Given the description of an element on the screen output the (x, y) to click on. 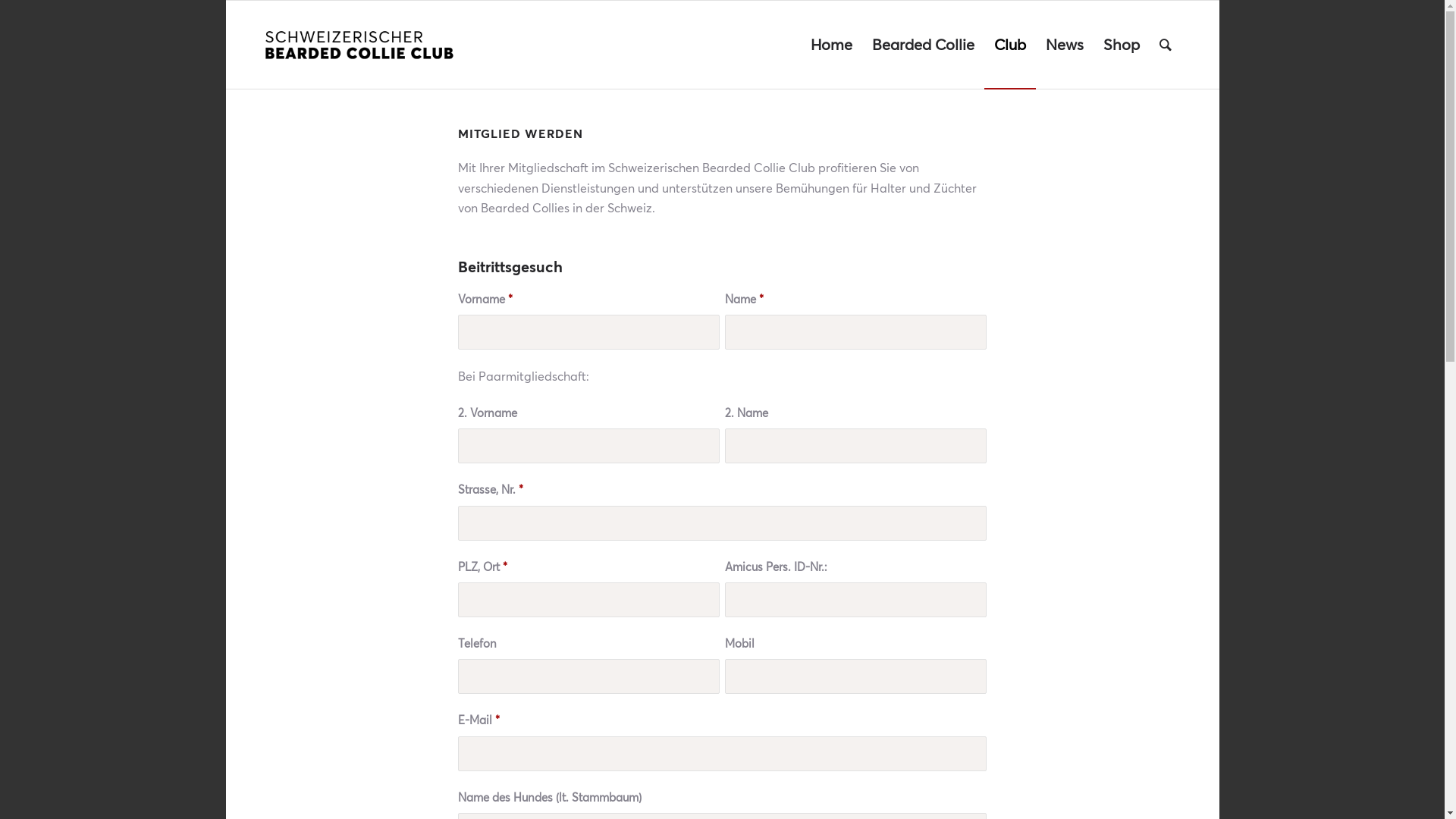
SBCC-Logotype_RGB_rectangle_black_340x156 Element type: hover (359, 44)
Bearded Collie Element type: text (922, 44)
News Element type: text (1064, 44)
Club Element type: text (1009, 44)
Shop Element type: text (1121, 44)
Home Element type: text (831, 44)
